Given the description of an element on the screen output the (x, y) to click on. 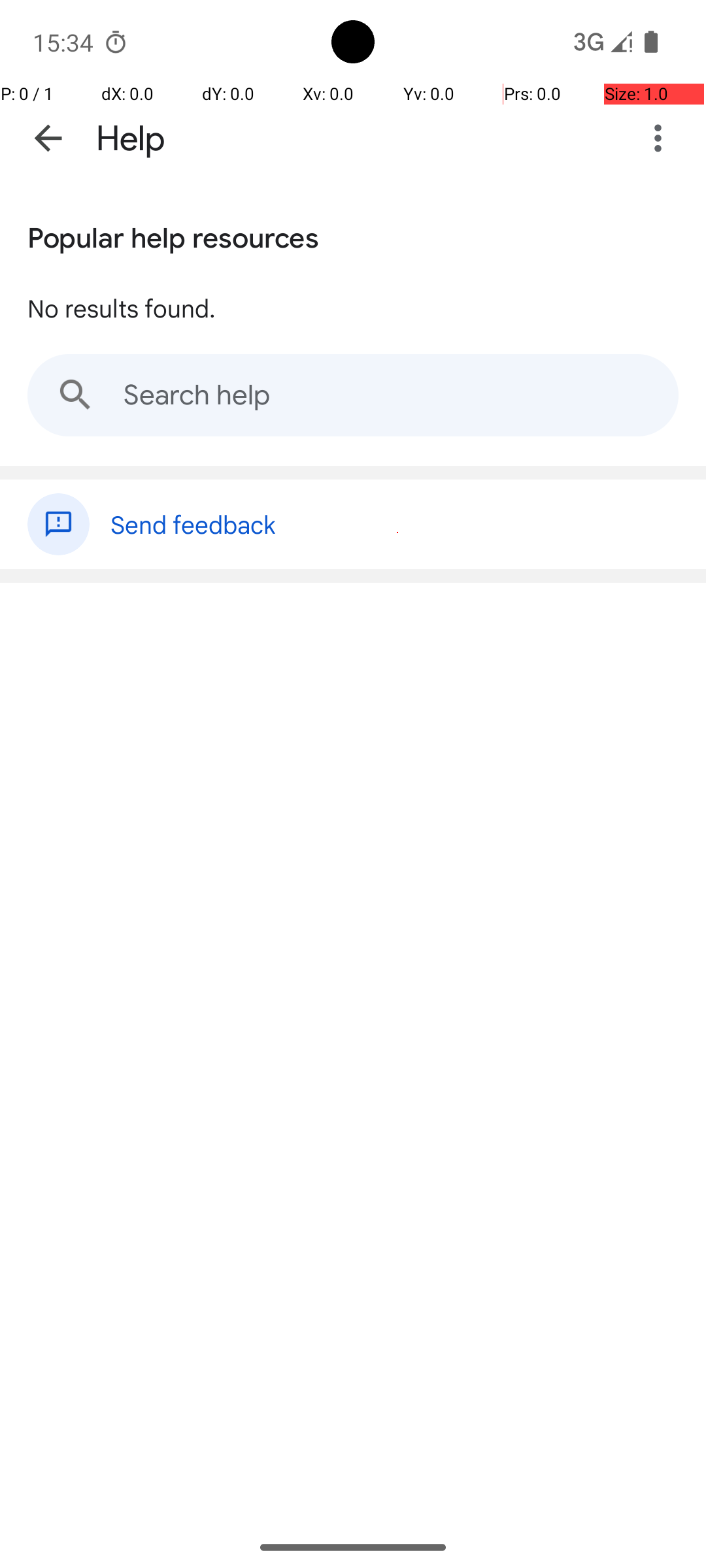
Popular help resources Element type: android.widget.TextView (173, 235)
Search help Element type: androidx.cardview.widget.CardView (352, 395)
No results found. Element type: android.widget.TextView (121, 307)
